Given the description of an element on the screen output the (x, y) to click on. 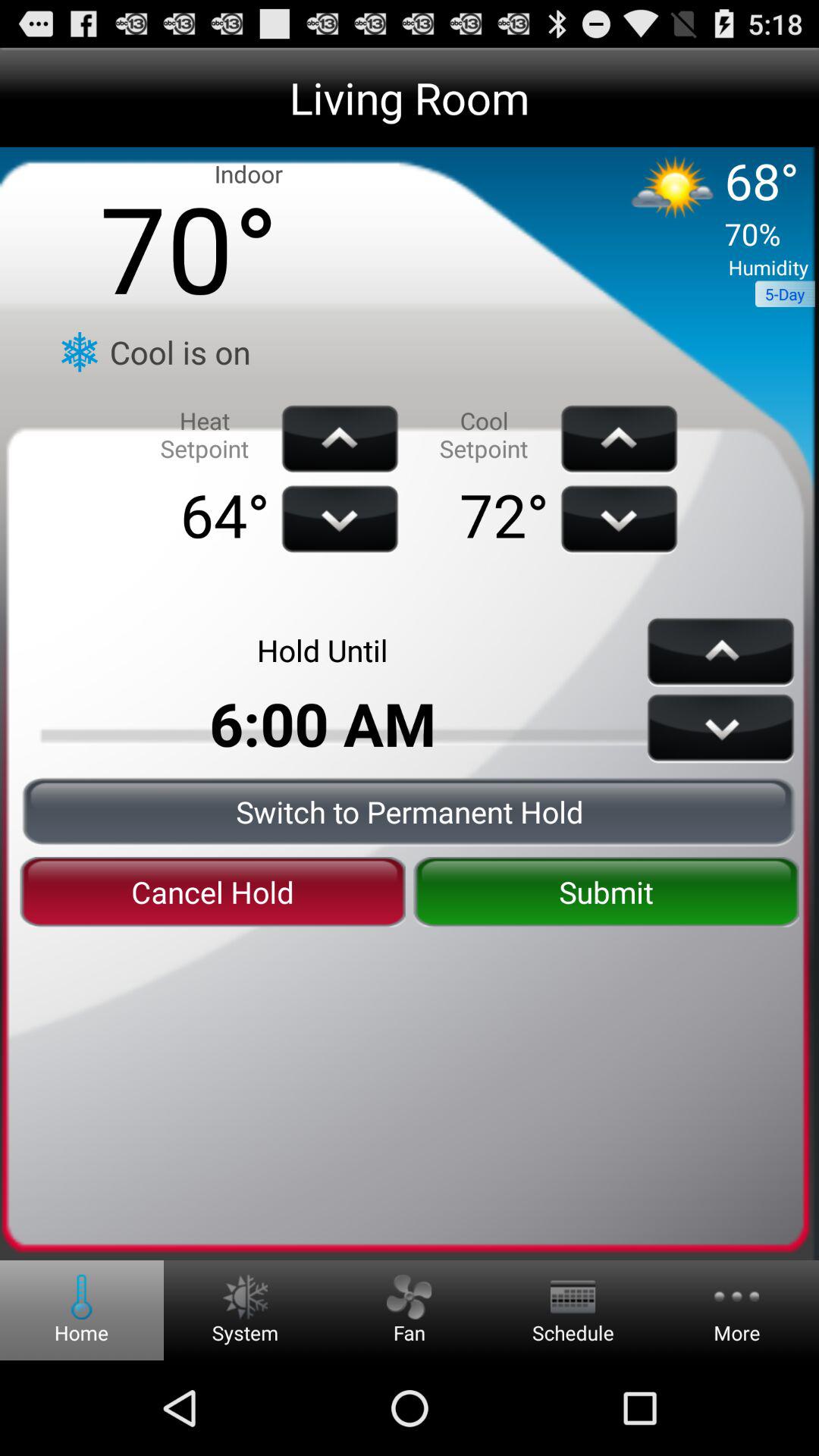
swipe to the 5-day (785, 293)
